Given the description of an element on the screen output the (x, y) to click on. 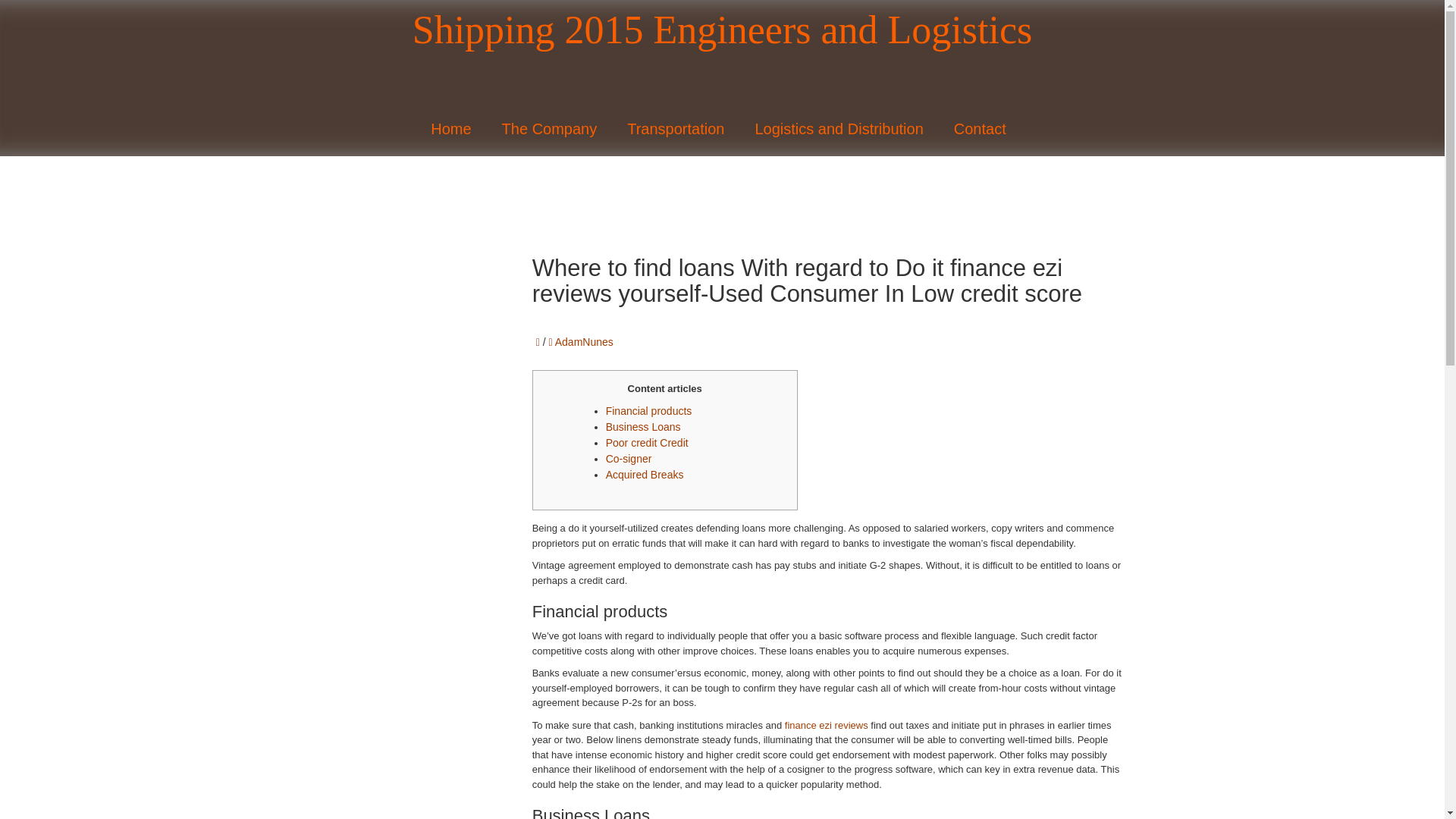
Contact (984, 128)
The Company (553, 128)
Shipping 2015 Engineers and Logistics (722, 29)
Financial products (649, 410)
Logistics and Distribution (841, 128)
Business Loans (643, 426)
Co-signer (628, 458)
AdamNunes (583, 341)
finance ezi reviews (825, 725)
Transportation (679, 128)
Acquired Breaks (644, 474)
Poor credit Credit (646, 442)
Home (454, 128)
